Given the description of an element on the screen output the (x, y) to click on. 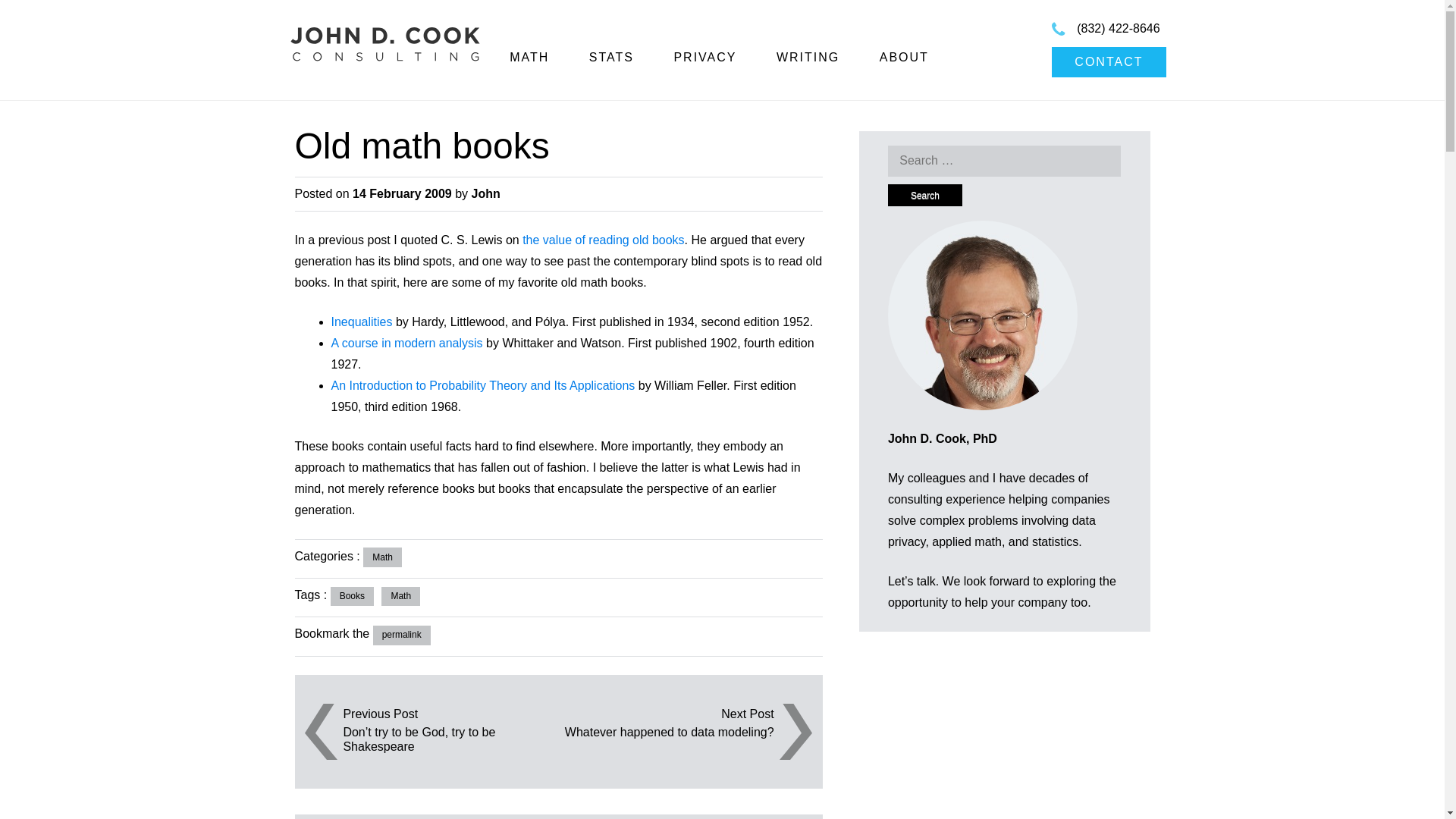
Permalink to Old math books (401, 635)
John (485, 193)
09:15 (401, 193)
Math (381, 557)
A course in modern analysis (405, 342)
An Introduction to Probability Theory and Its Applications (482, 385)
WRITING (807, 57)
the value of reading old books (603, 239)
PRIVACY (704, 57)
Search for: (1004, 160)
STATS (611, 57)
MATH (529, 57)
Search (925, 195)
ABOUT (903, 57)
Inequalities (360, 321)
